Given the description of an element on the screen output the (x, y) to click on. 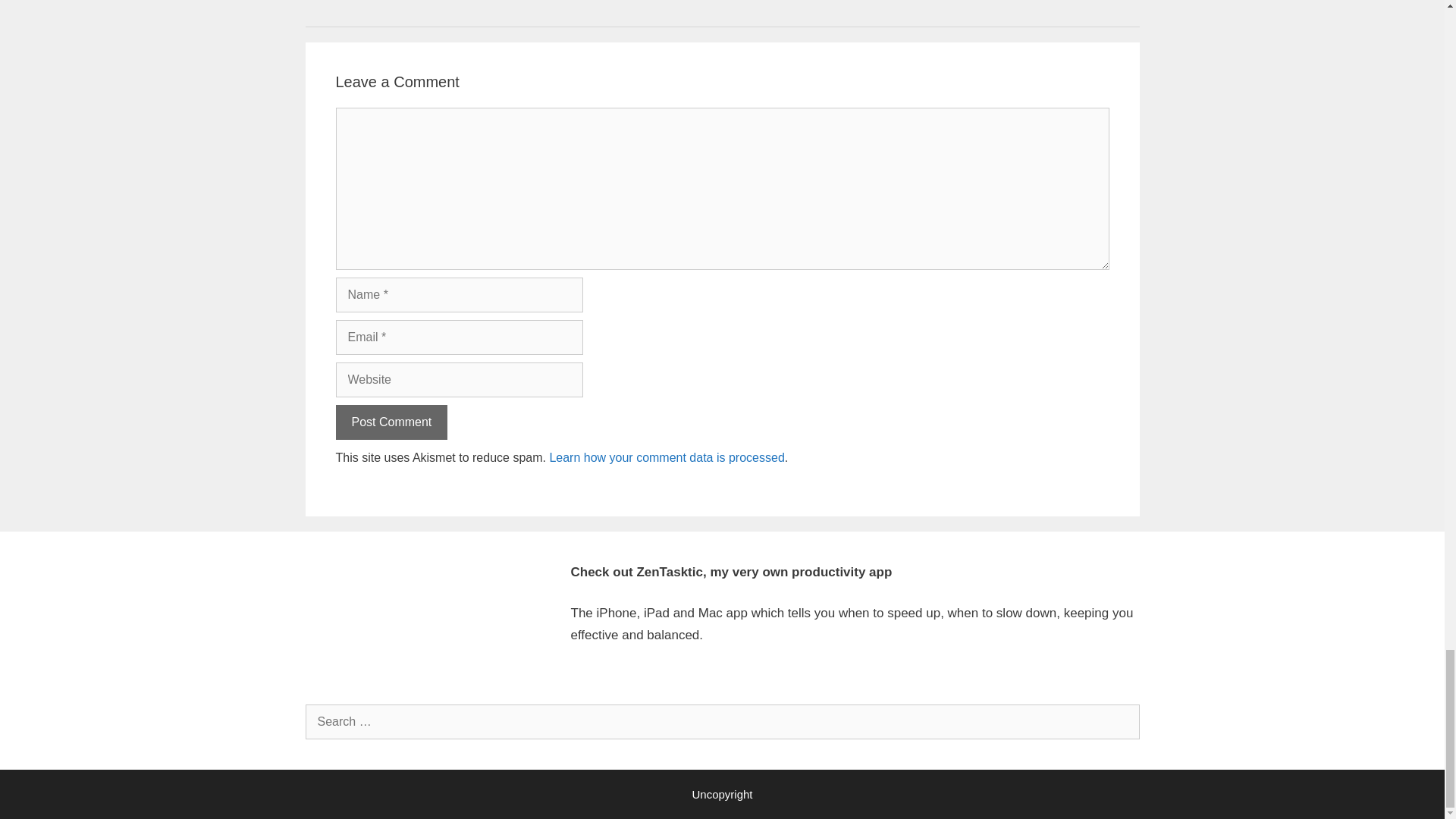
Learn how your comment data is processed (666, 457)
Post Comment (390, 421)
Uncopyright (721, 793)
Search for: (721, 721)
Post Comment (390, 421)
